Given the description of an element on the screen output the (x, y) to click on. 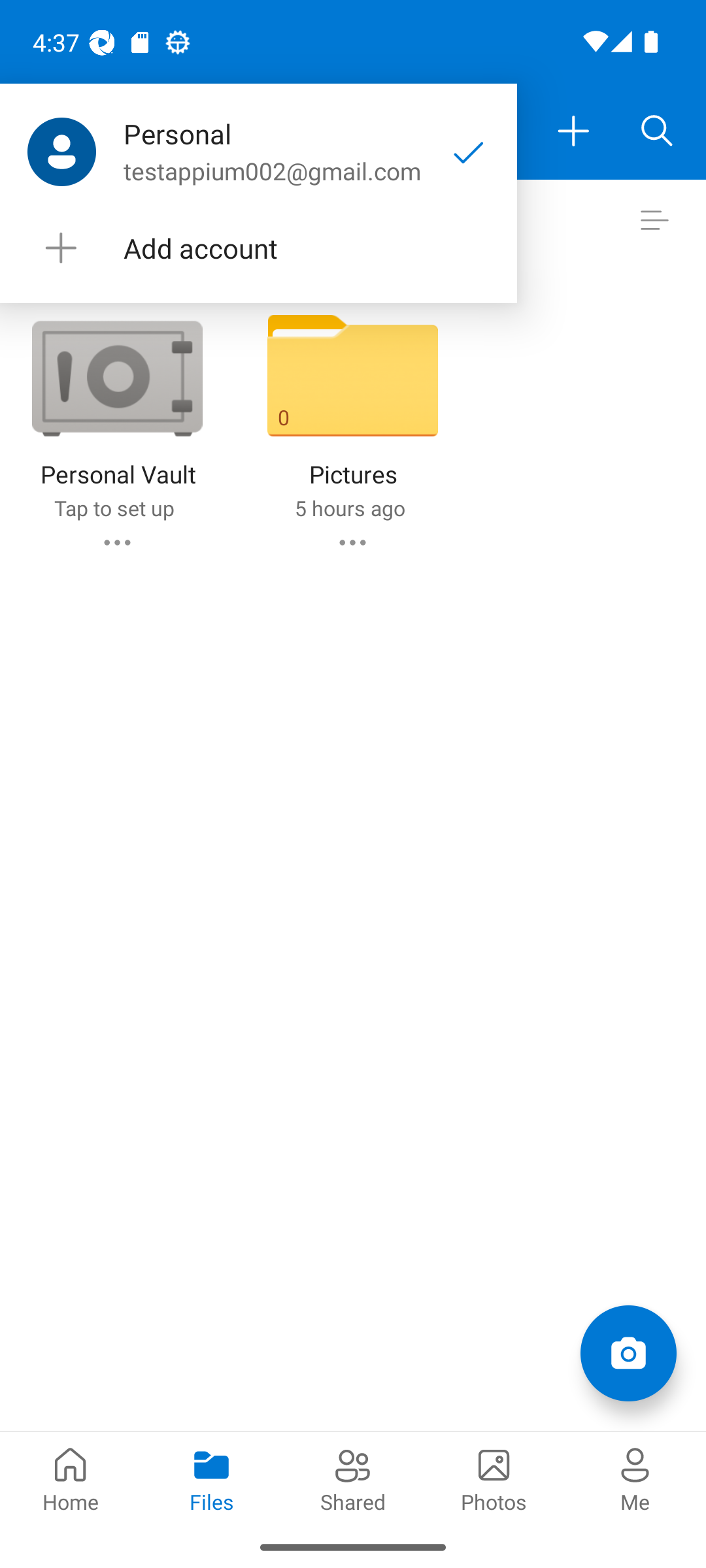
Personal testappium002@gmail.com Checked (258, 151)
Checked (468, 151)
Add account button Add account (258, 248)
